Given the description of an element on the screen output the (x, y) to click on. 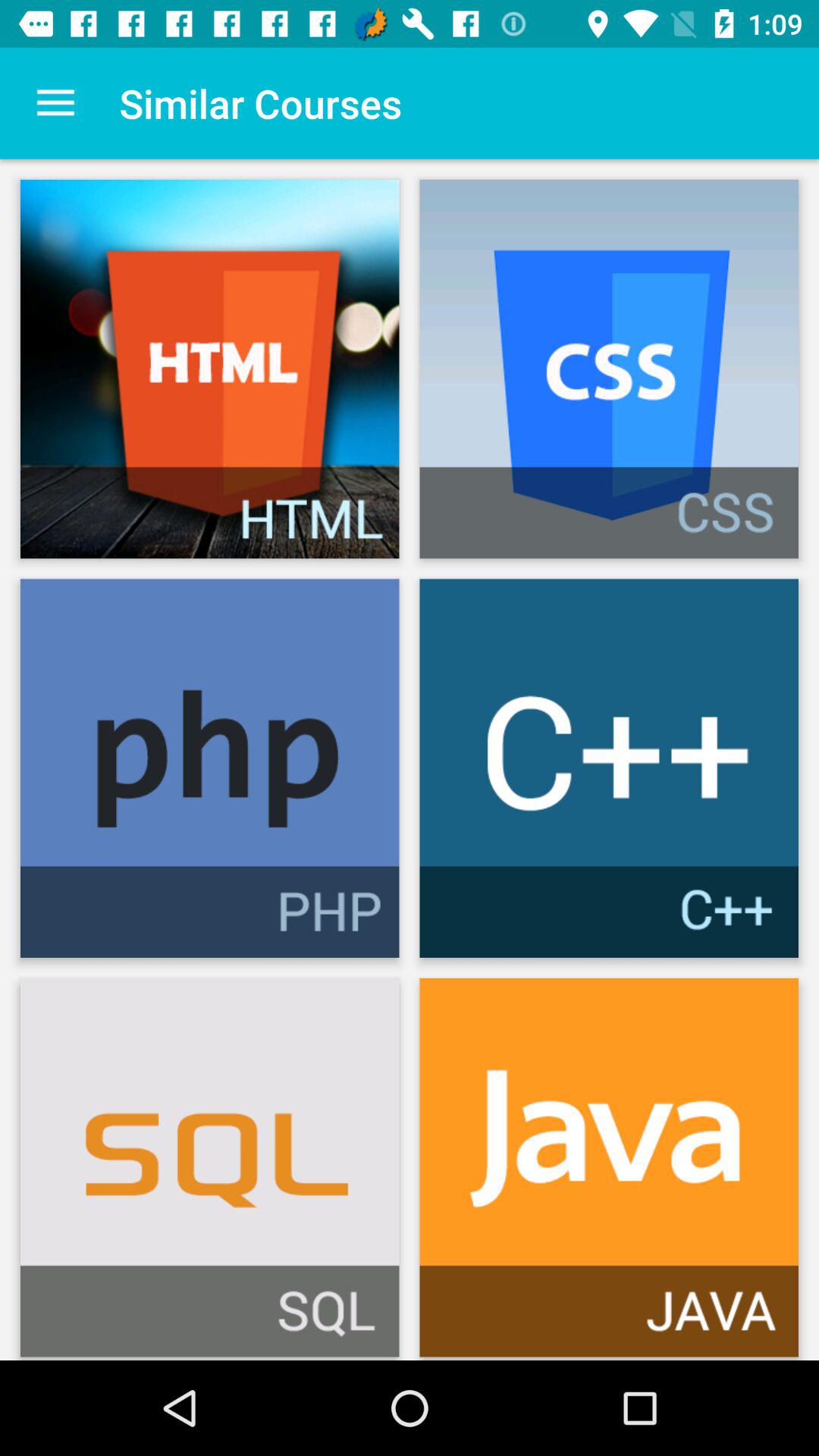
click item next to the similar courses icon (55, 103)
